Given the description of an element on the screen output the (x, y) to click on. 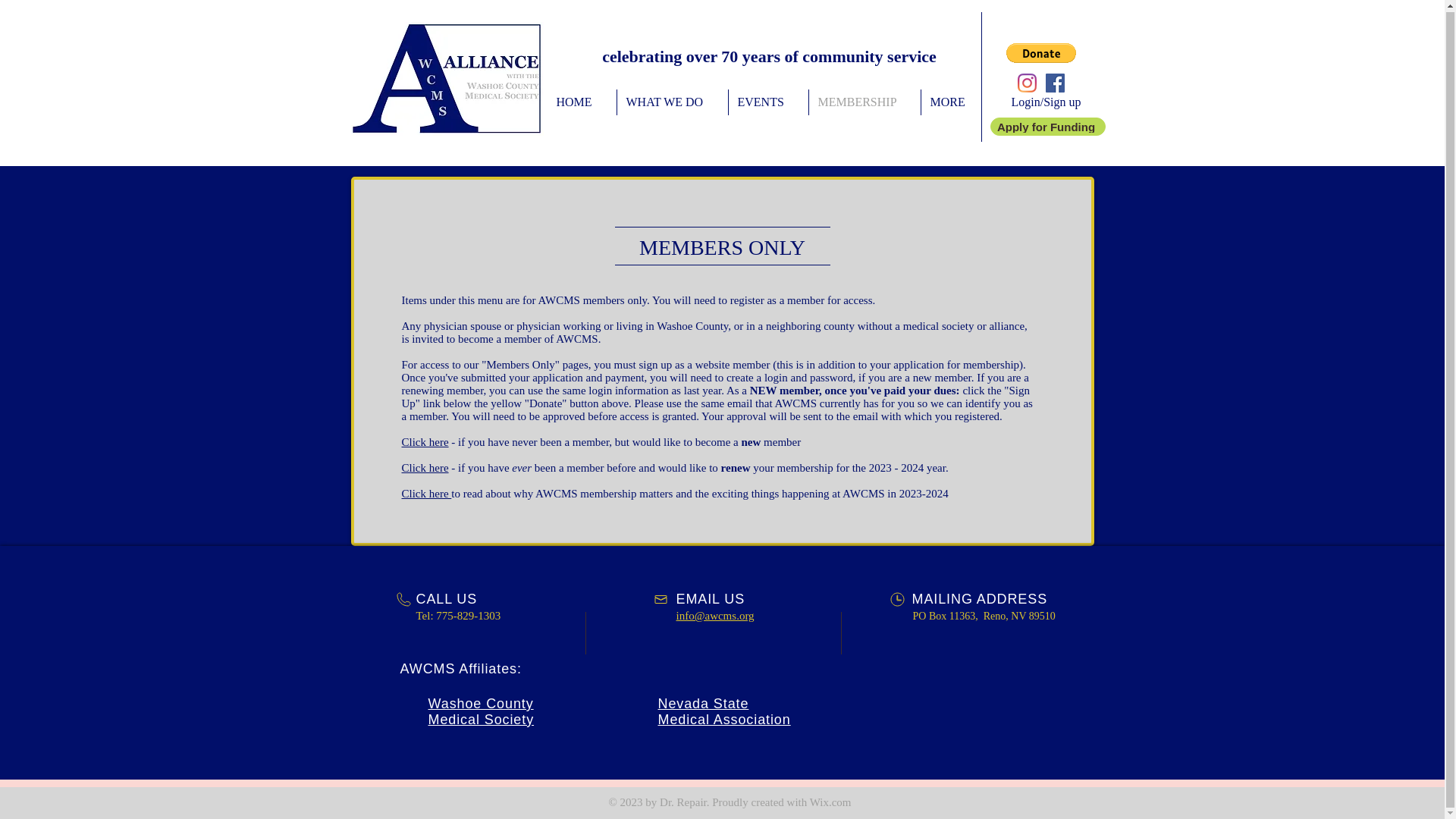
Nevada State Medical Association (724, 711)
Washoe County Medical Society (481, 711)
Apply for Funding (1047, 126)
Click here (426, 493)
HOME (581, 102)
Wix.com (830, 802)
Click here (424, 441)
WHAT WE DO (672, 102)
MEMBERSHIP (864, 102)
EVENTS (768, 102)
Click here (424, 467)
